Given the description of an element on the screen output the (x, y) to click on. 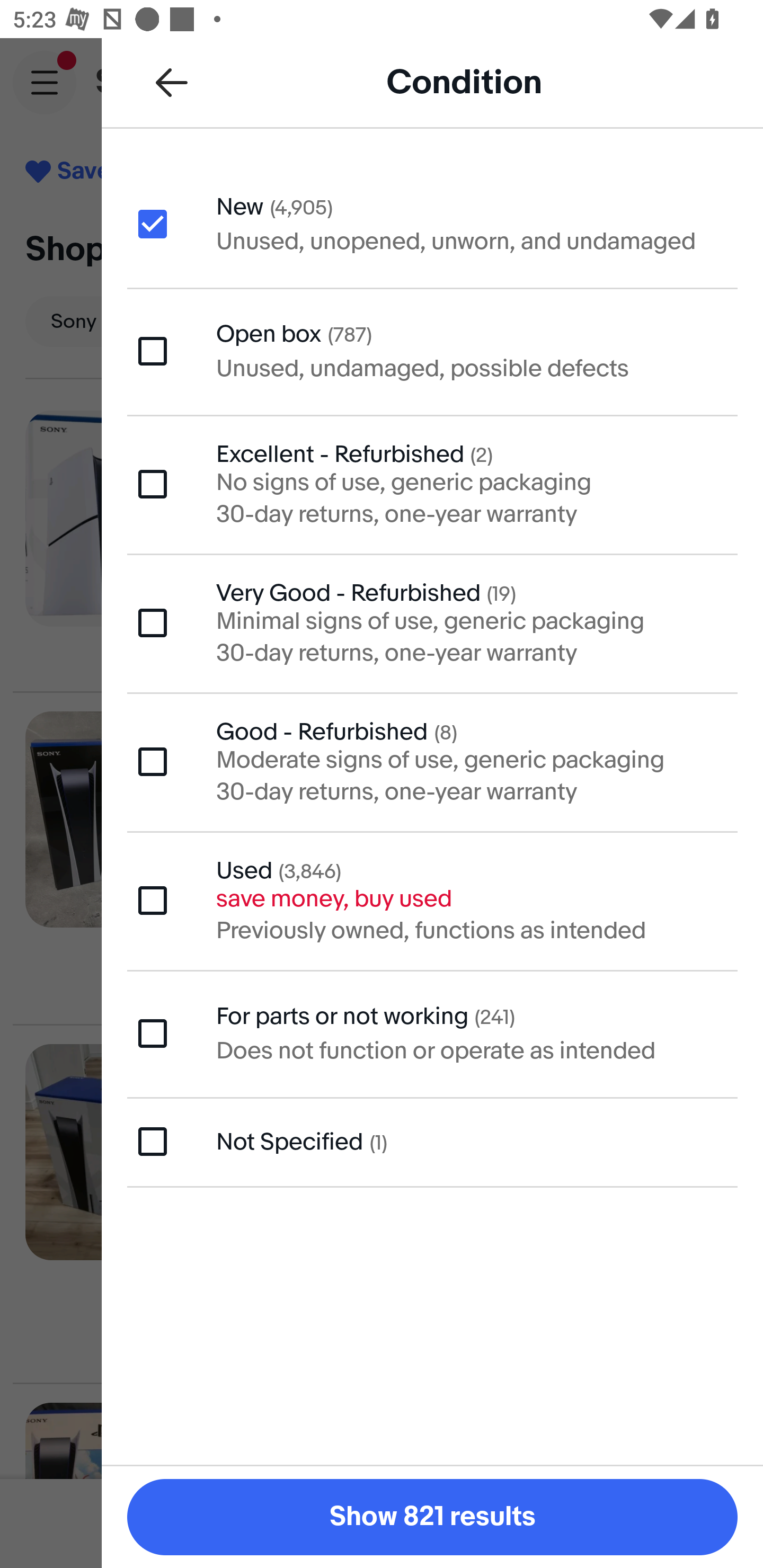
Back to all refinements (171, 81)
Open box (787) Unused, undamaged, possible defects (432, 350)
Not Specified (1) (432, 1141)
Show 821 results (432, 1516)
